Given the description of an element on the screen output the (x, y) to click on. 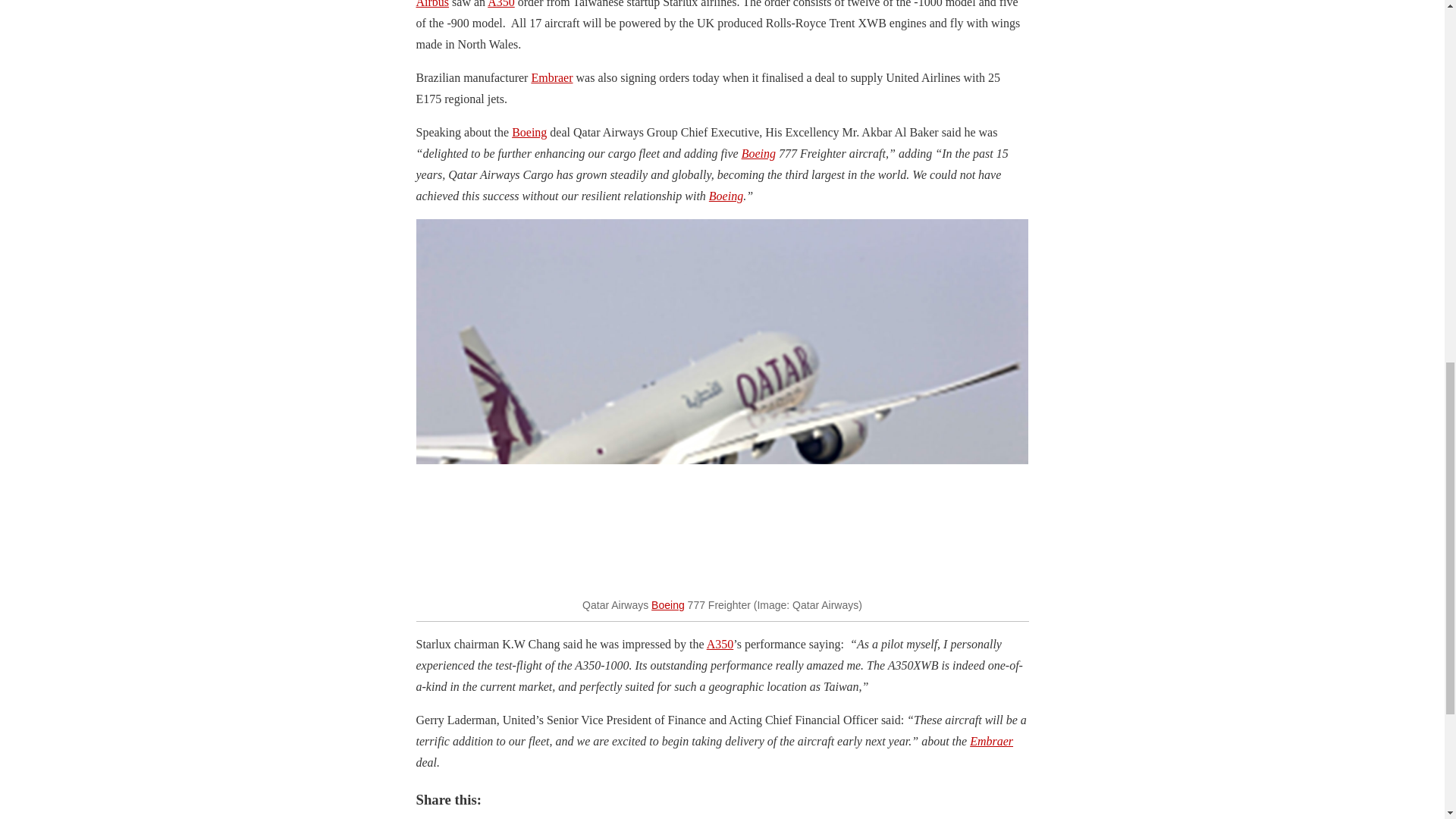
Airbus (431, 4)
Boeing (529, 132)
A350 (719, 644)
Boeing (758, 153)
Boeing (725, 195)
Embraer (551, 77)
Embraer (991, 740)
A350 (501, 4)
Boeing (667, 604)
